Given the description of an element on the screen output the (x, y) to click on. 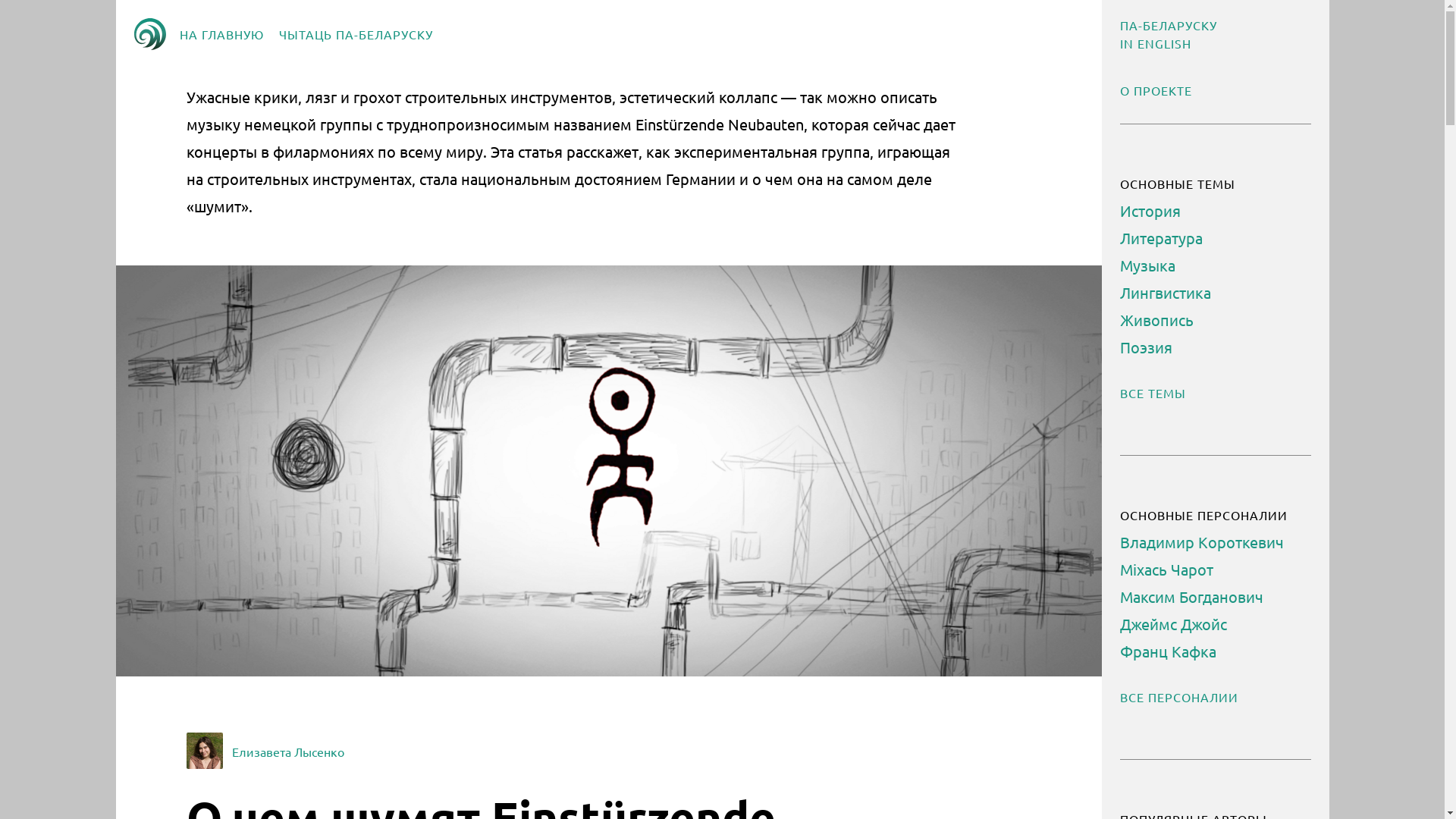
IN ENGLISH Element type: text (1154, 42)
